Given the description of an element on the screen output the (x, y) to click on. 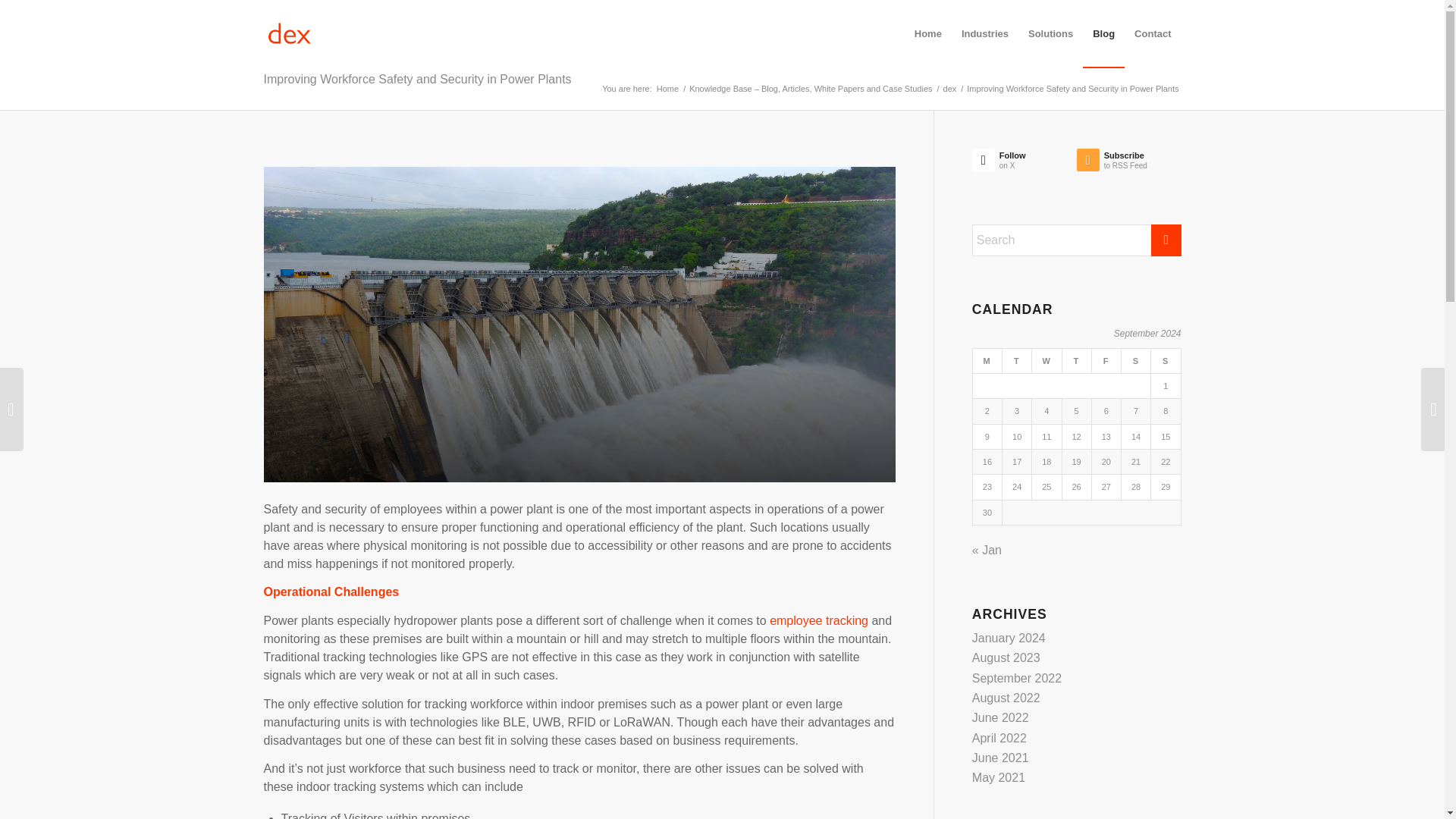
Saturday (1135, 360)
Wednesday (1024, 163)
June 2022 (1046, 360)
employee tracking (1000, 717)
Thursday (818, 620)
Friday (1075, 360)
Solutions (1105, 360)
Home (1050, 33)
Improving Workforce Safety and Security in Power Plants (667, 89)
